Given the description of an element on the screen output the (x, y) to click on. 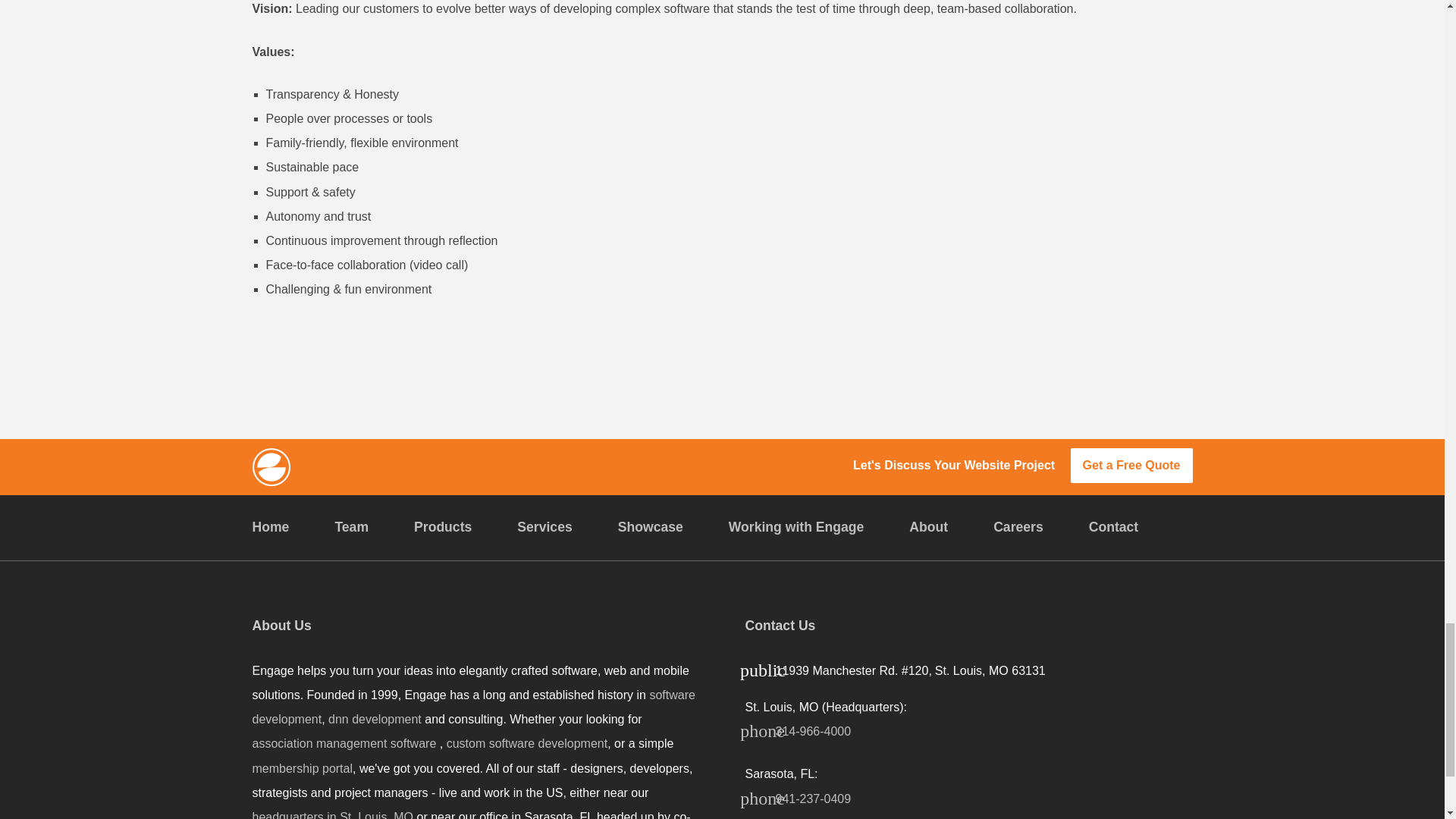
Get a Free Quote (1131, 465)
